Given the description of an element on the screen output the (x, y) to click on. 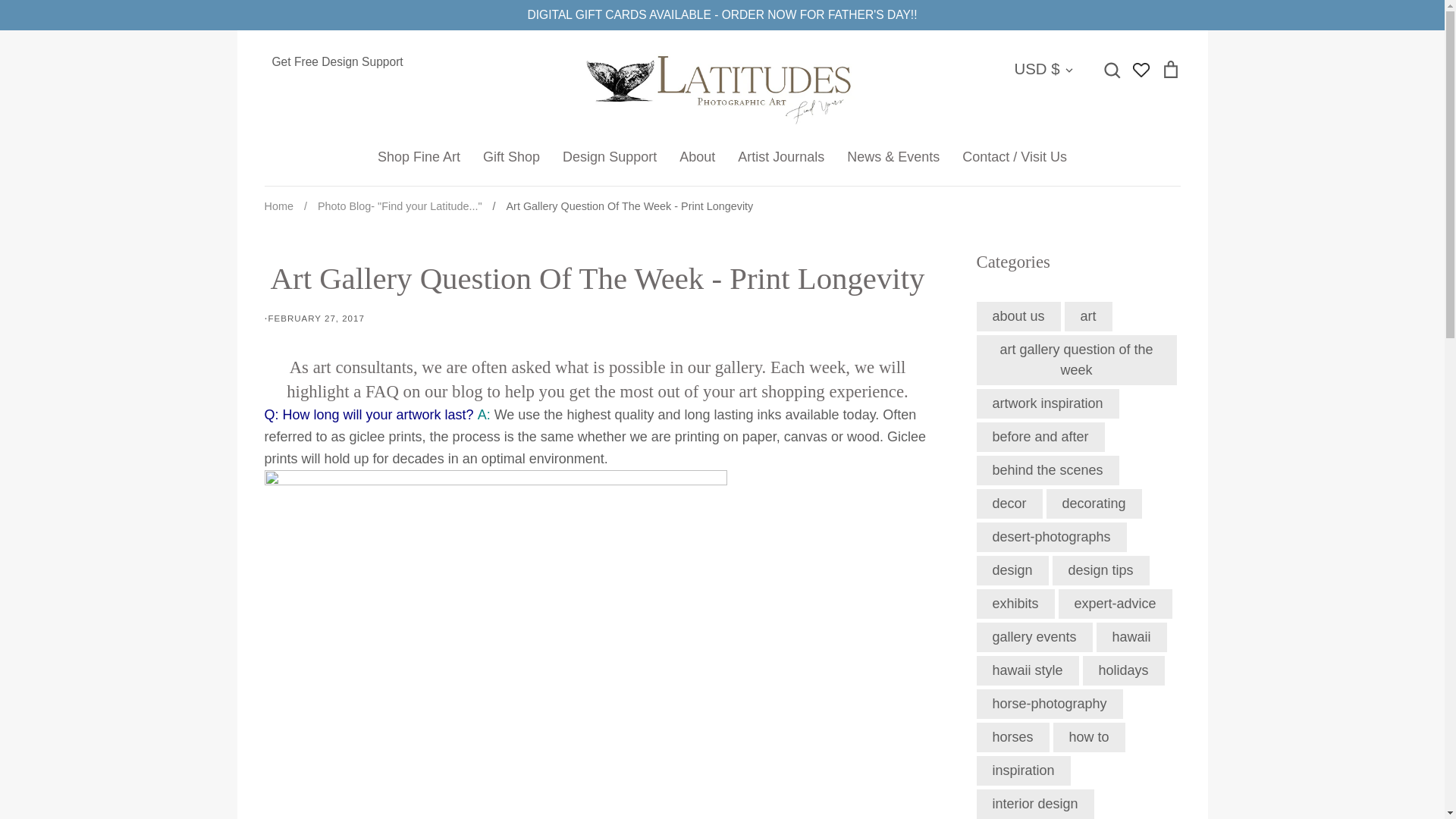
Get Free Design Support (408, 62)
